Given the description of an element on the screen output the (x, y) to click on. 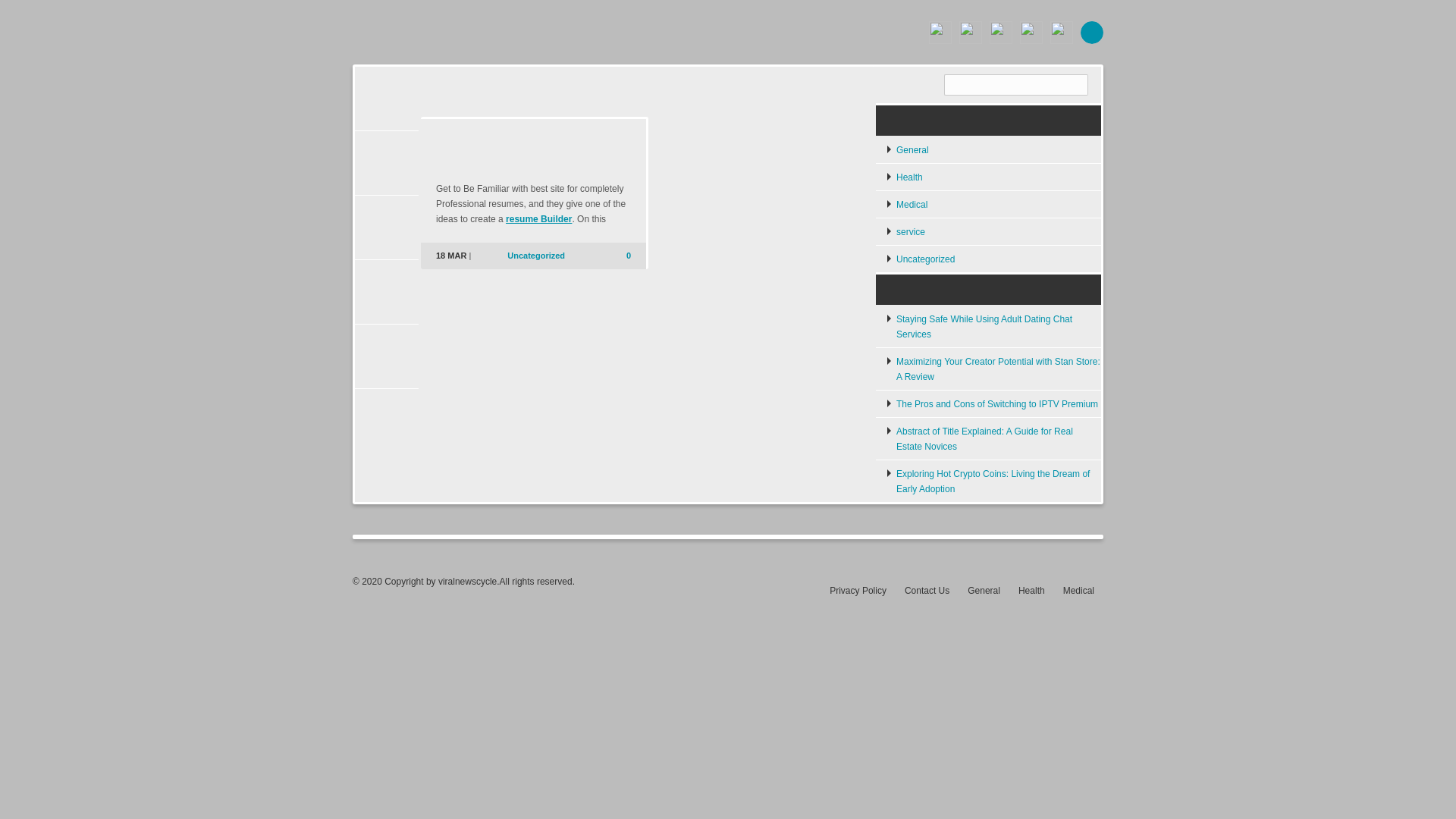
Health (904, 177)
Contact Us (926, 590)
service (905, 231)
resume Builder (538, 218)
General (907, 149)
18 MAR (450, 255)
Privacy Policy (857, 590)
The Pros and Cons of Switching to IPTV Premium (993, 403)
Maximizing Your Creator Potential with Stan Store: A Review (993, 368)
General (984, 590)
Uncategorized (535, 255)
Health (1031, 590)
Medical (1078, 590)
